Given the description of an element on the screen output the (x, y) to click on. 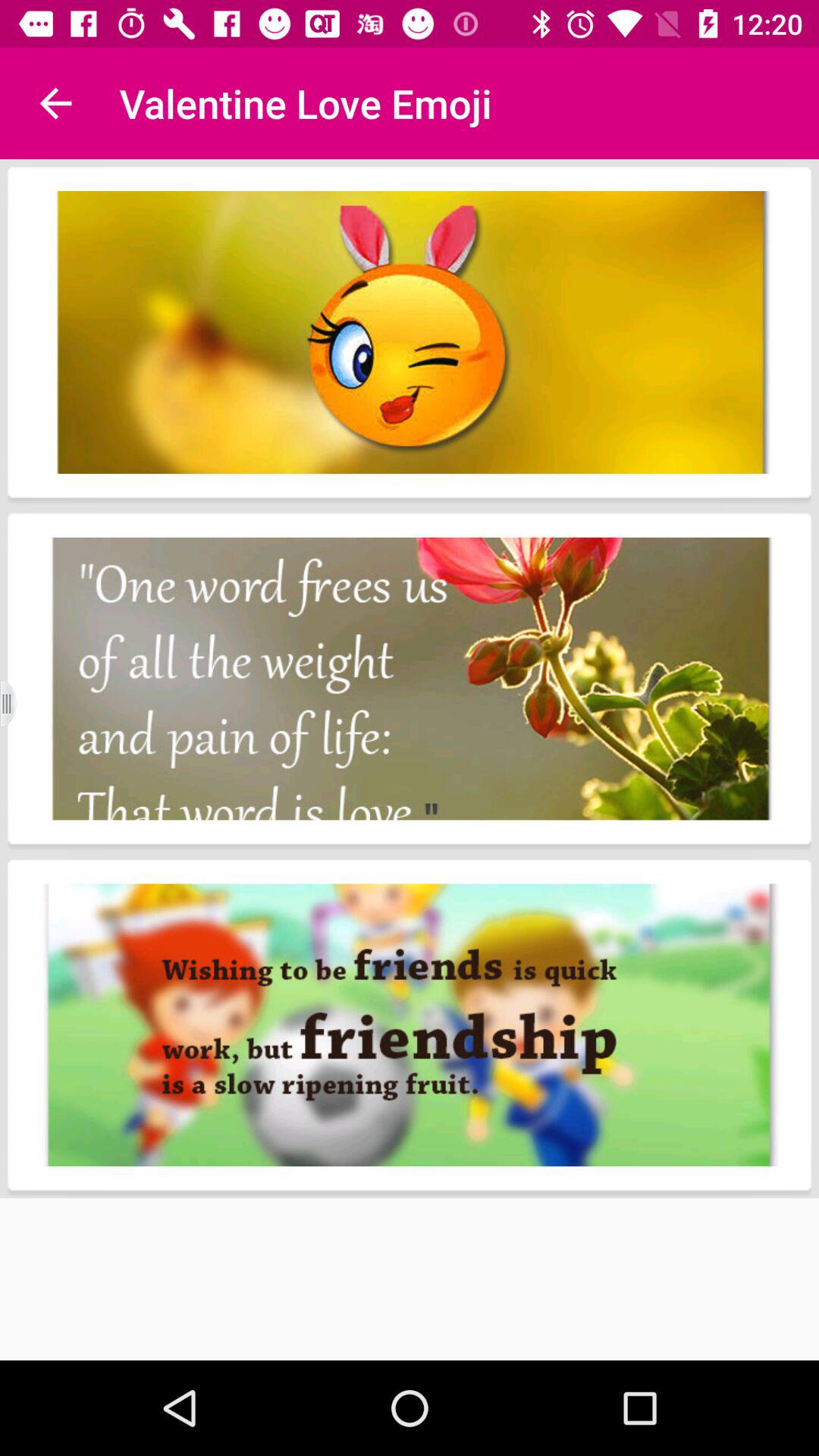
open the item to the left of the valentine love emoji (55, 103)
